Given the description of an element on the screen output the (x, y) to click on. 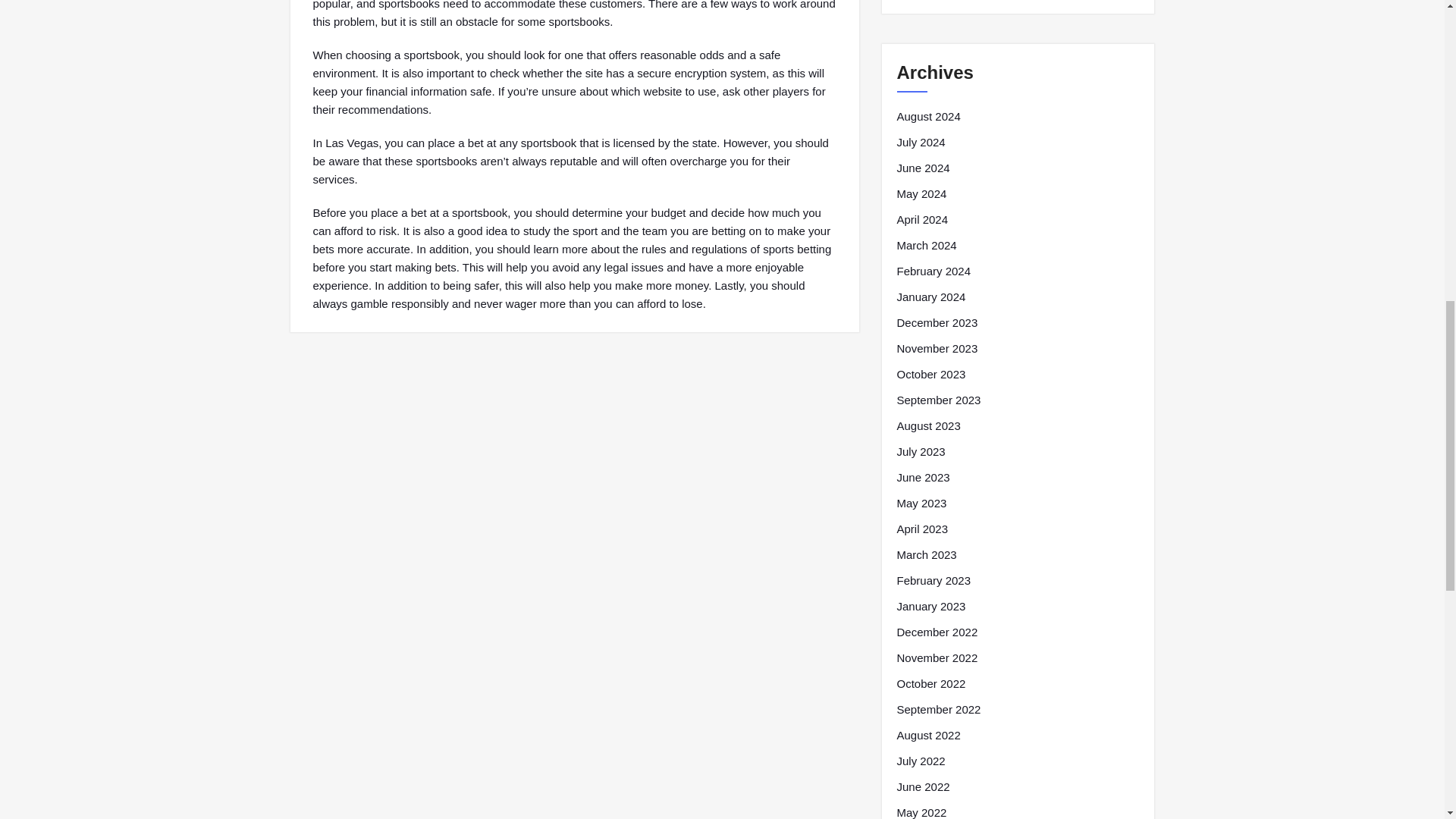
February 2024 (933, 271)
August 2024 (927, 116)
September 2022 (937, 710)
October 2023 (930, 374)
May 2023 (921, 503)
April 2023 (921, 529)
March 2023 (926, 555)
March 2024 (926, 245)
October 2022 (930, 683)
May 2024 (921, 194)
